Given the description of an element on the screen output the (x, y) to click on. 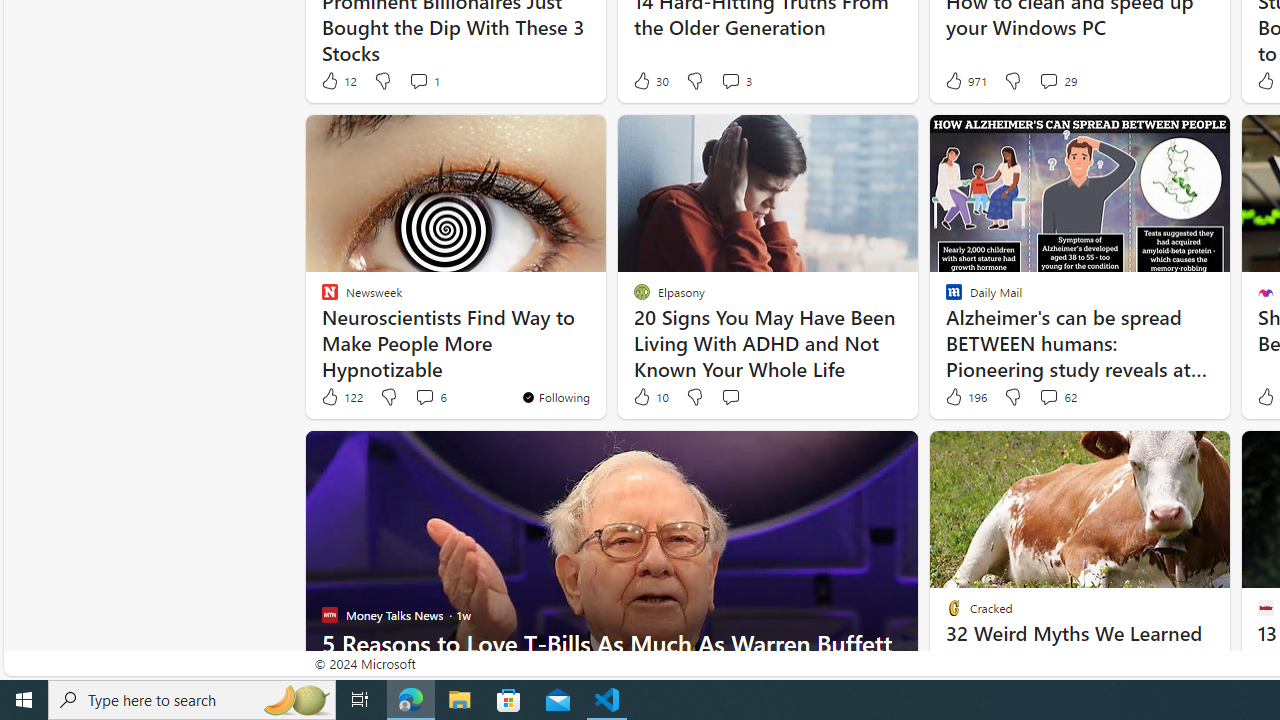
You're following Newsweek (555, 396)
View comments 3 Comment (735, 80)
View comments 3 Comment (730, 80)
View comments 6 Comment (429, 397)
View comments 62 Comment (1048, 396)
971 Like (964, 80)
View comments 62 Comment (1057, 397)
View comments 29 Comment (1057, 80)
196 Like (964, 397)
12 Like (337, 80)
10 Like (650, 397)
